Given the description of an element on the screen output the (x, y) to click on. 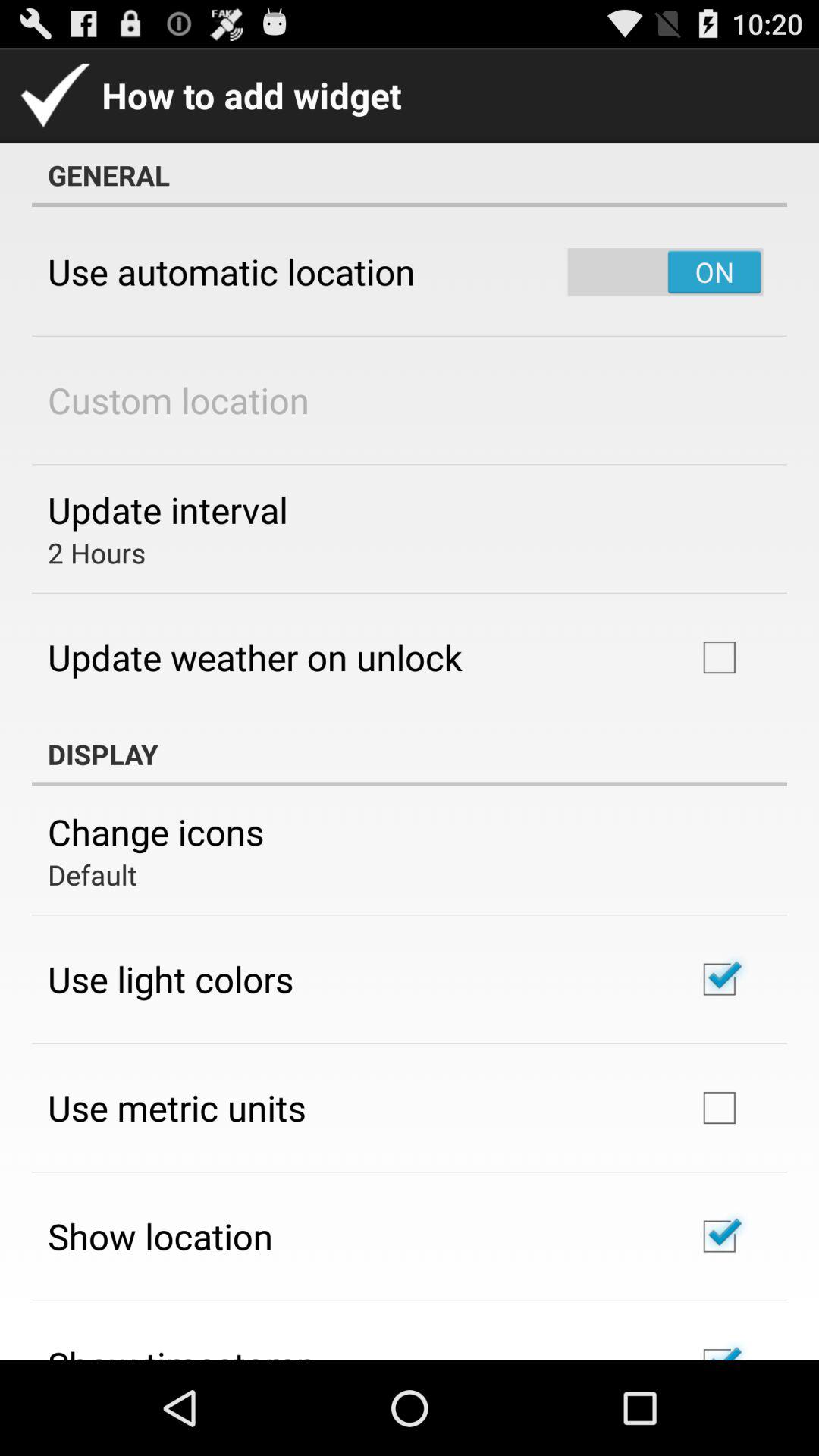
flip to 2 hours (96, 552)
